Given the description of an element on the screen output the (x, y) to click on. 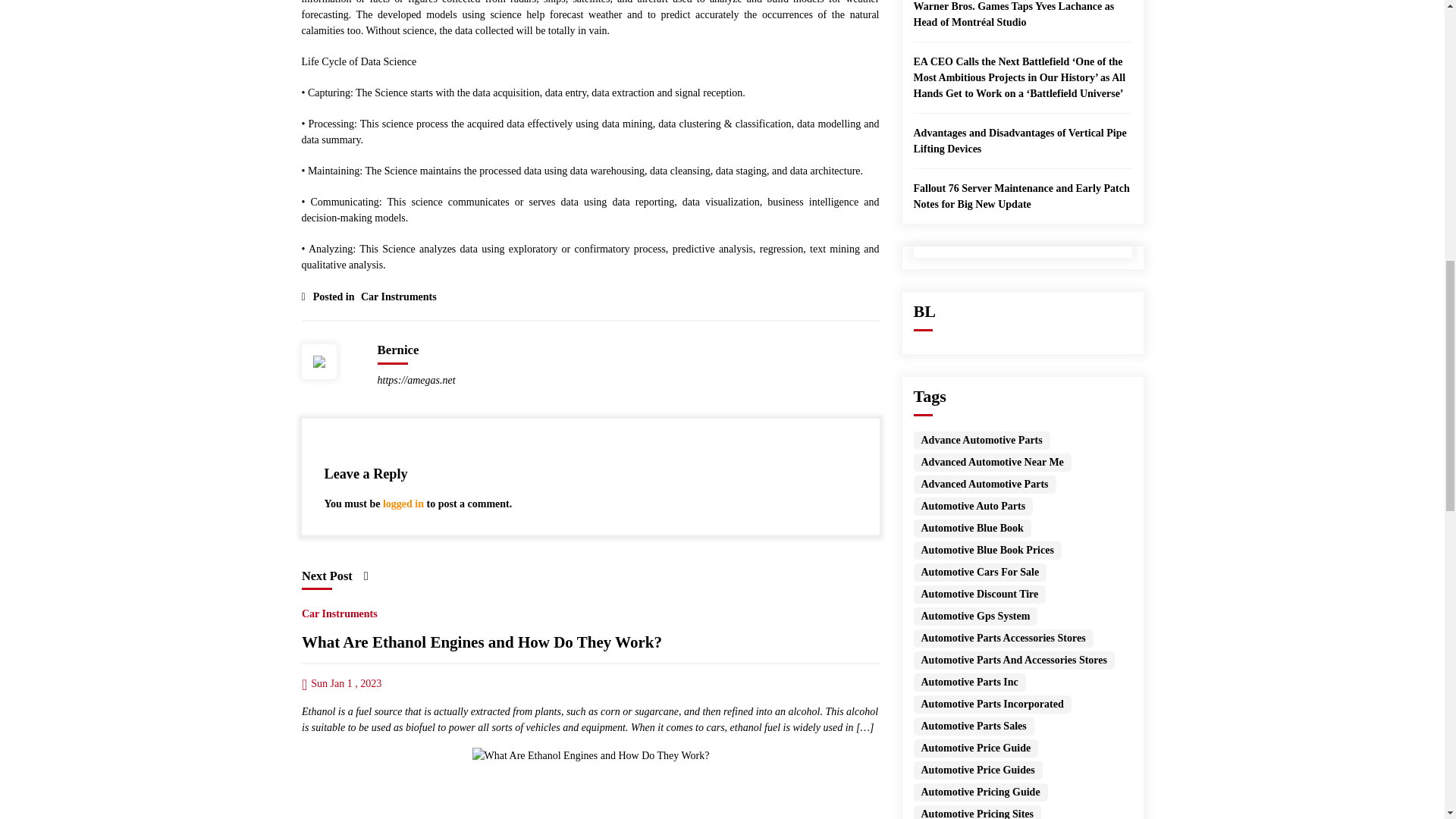
What Are Ethanol Engines and How Do They Work? (590, 755)
